Given the description of an element on the screen output the (x, y) to click on. 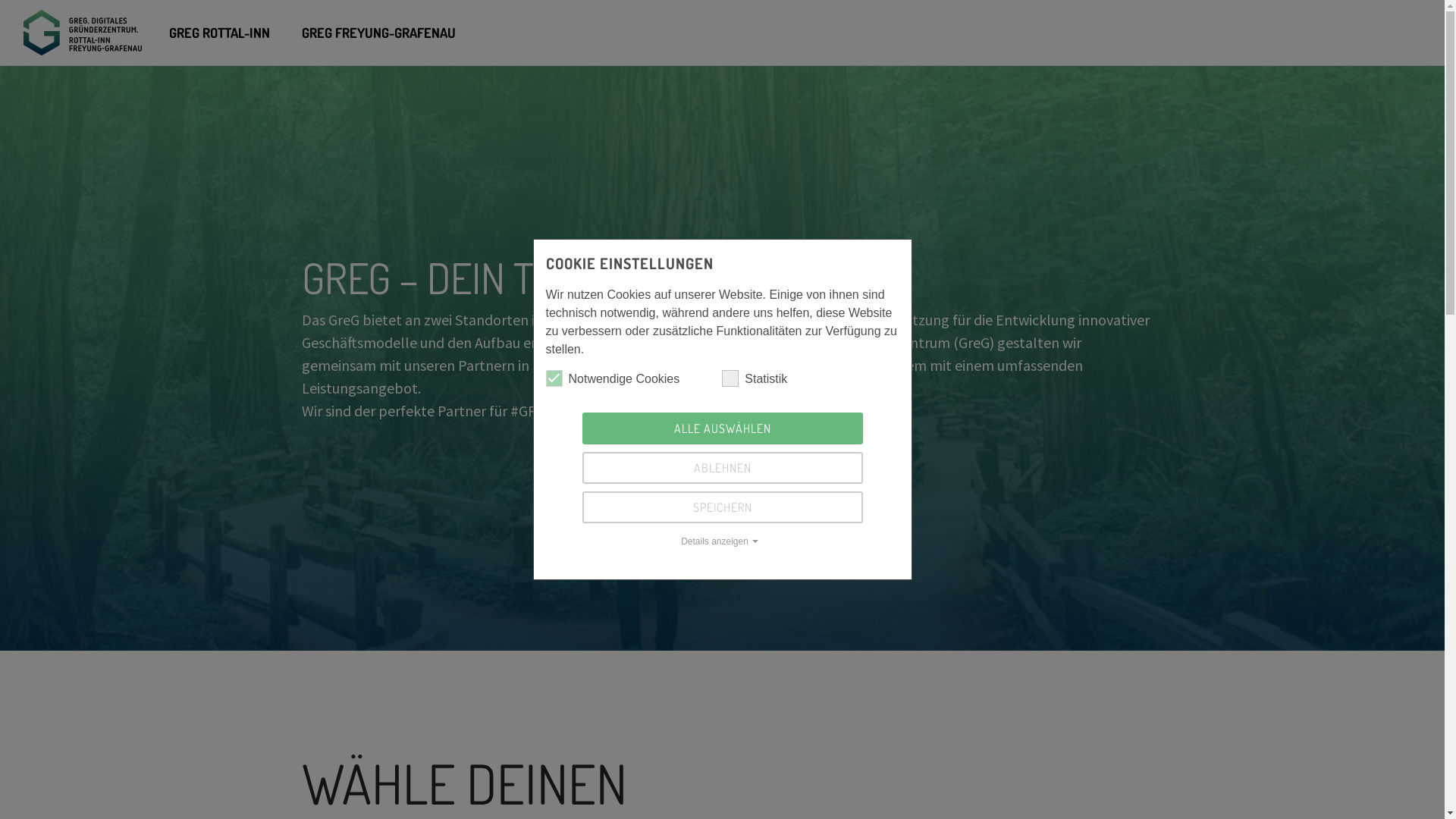
GREG ROTTAL-INN Element type: text (219, 32)
SPEICHERN Element type: text (722, 507)
Details anzeigen Element type: text (722, 541)
GreG Element type: text (82, 32)
ABLEHNEN Element type: text (722, 467)
GREG FREYUNG-GRAFENAU Element type: text (378, 32)
